Given the description of an element on the screen output the (x, y) to click on. 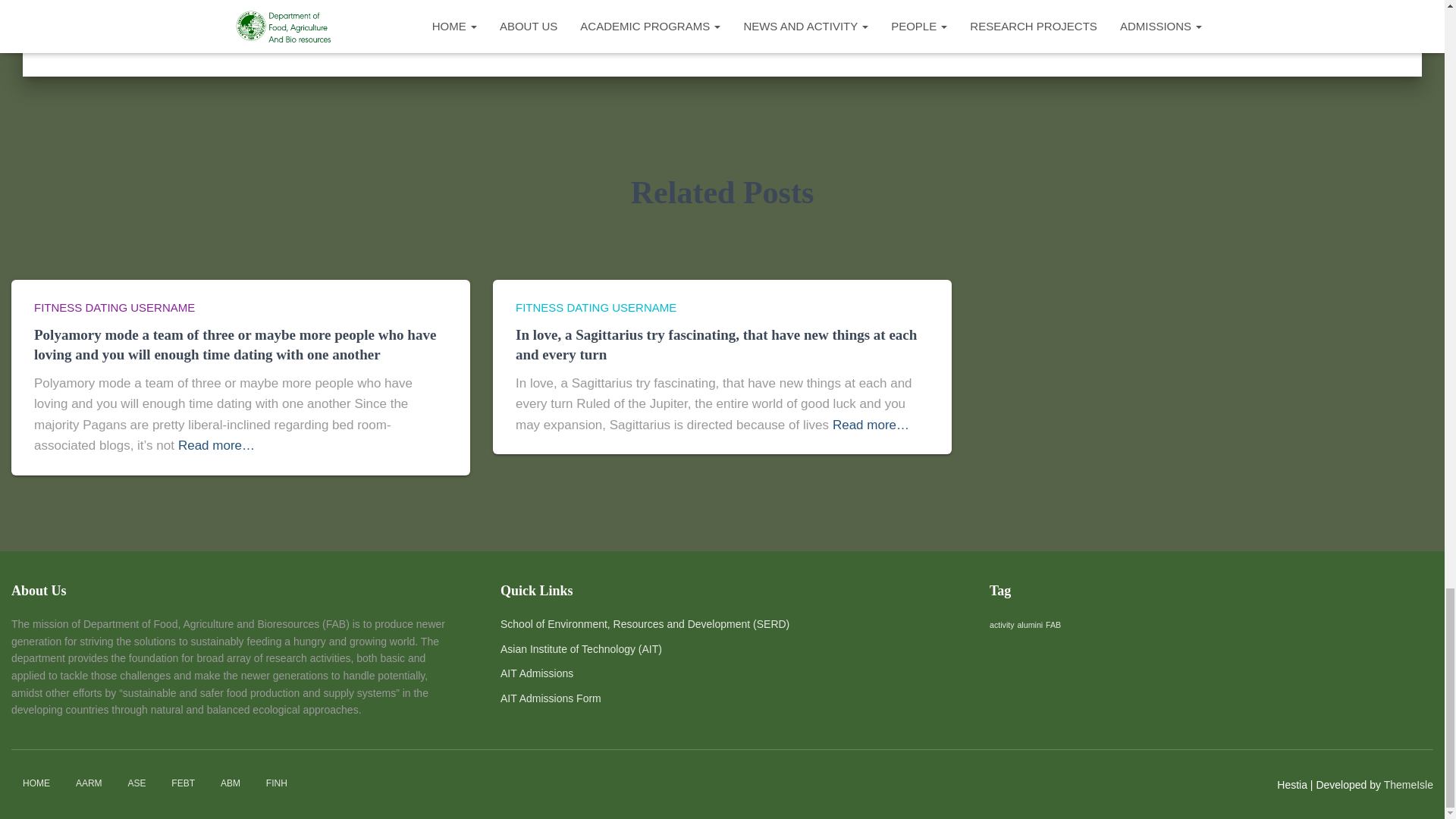
FITNESS DATING USERNAME (596, 307)
FITNESS DATING USERNAME (114, 307)
